Given the description of an element on the screen output the (x, y) to click on. 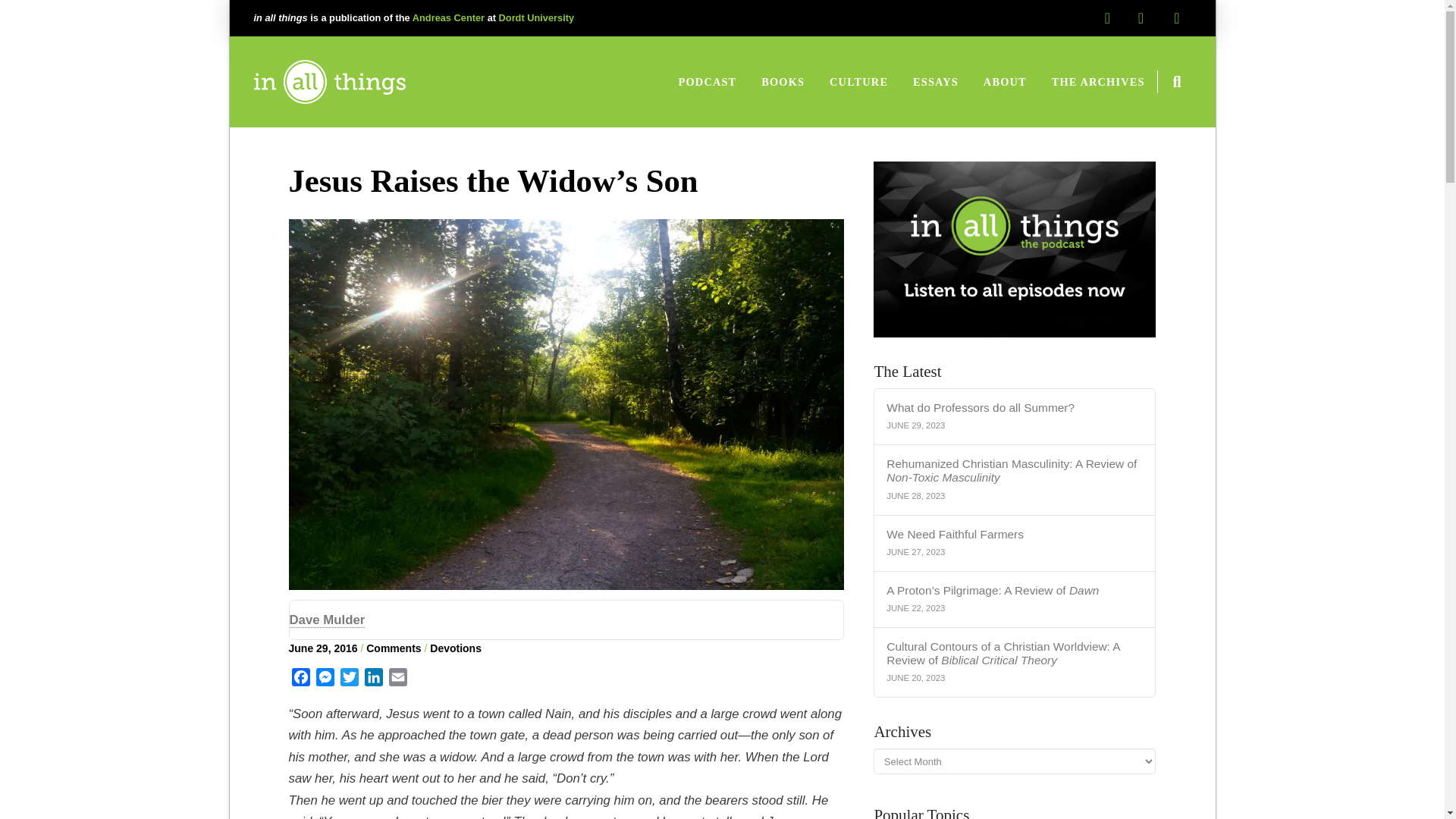
LinkedIn (373, 679)
Twitter (348, 679)
Dordt University (537, 17)
Dave Mulder (327, 620)
Devotions (455, 648)
Messenger (324, 679)
Email (397, 679)
Email (397, 679)
Comments (393, 648)
LinkedIn (373, 679)
Facebook (300, 679)
PODCAST (707, 81)
THE ARCHIVES (1098, 81)
Andreas Center (448, 17)
Facebook (300, 679)
